Given the description of an element on the screen output the (x, y) to click on. 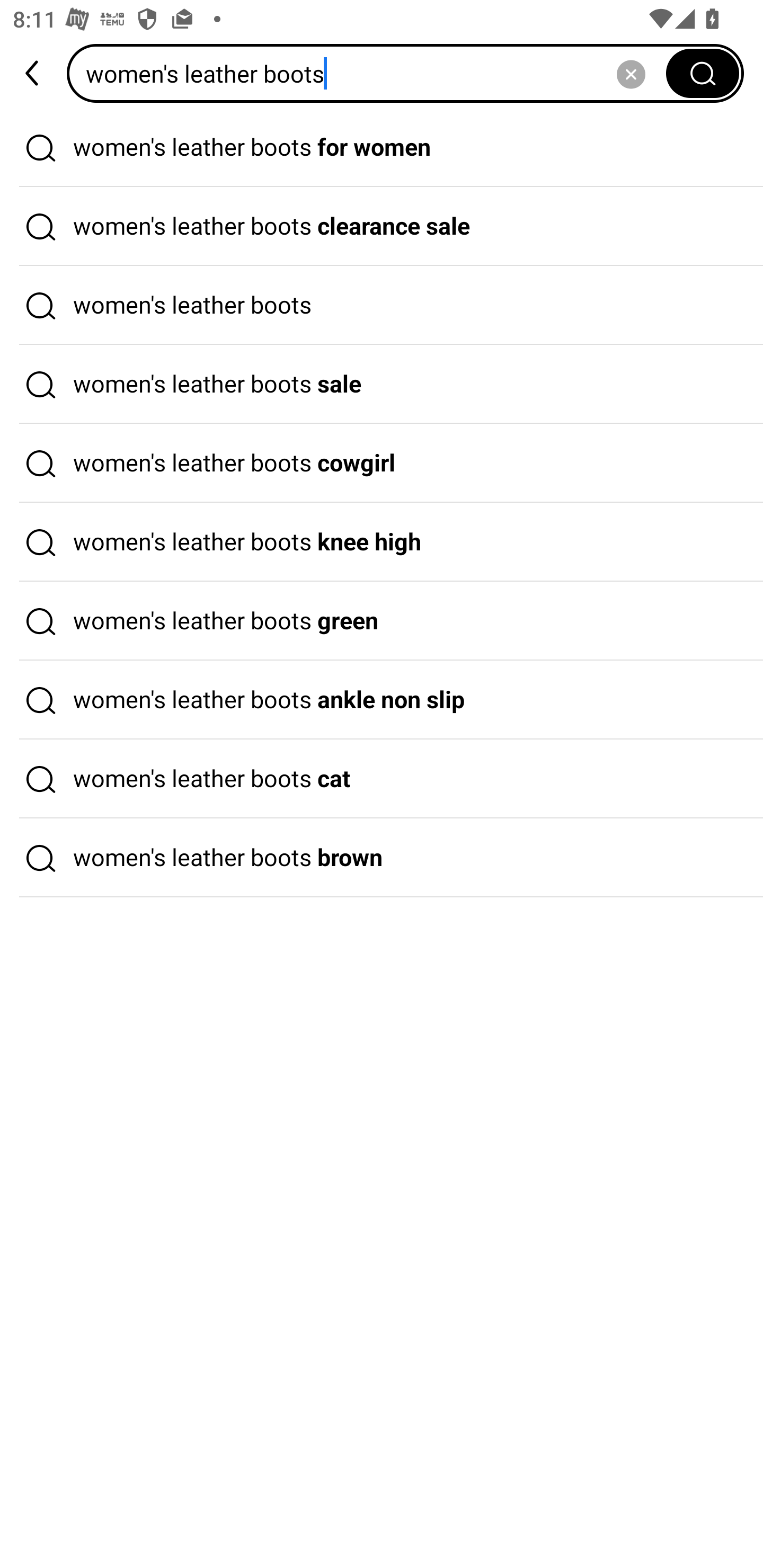
back (33, 72)
women's leather boots (372, 73)
Delete search history (630, 73)
women's leather boots for women (381, 147)
women's leather boots clearance sale (381, 226)
women's leather boots (381, 305)
women's leather boots sale (381, 383)
women's leather boots cowgirl (381, 463)
women's leather boots knee high (381, 542)
women's leather boots green (381, 620)
women's leather boots ankle non slip (381, 700)
women's leather boots cat (381, 779)
women's leather boots brown (381, 857)
